Given the description of an element on the screen output the (x, y) to click on. 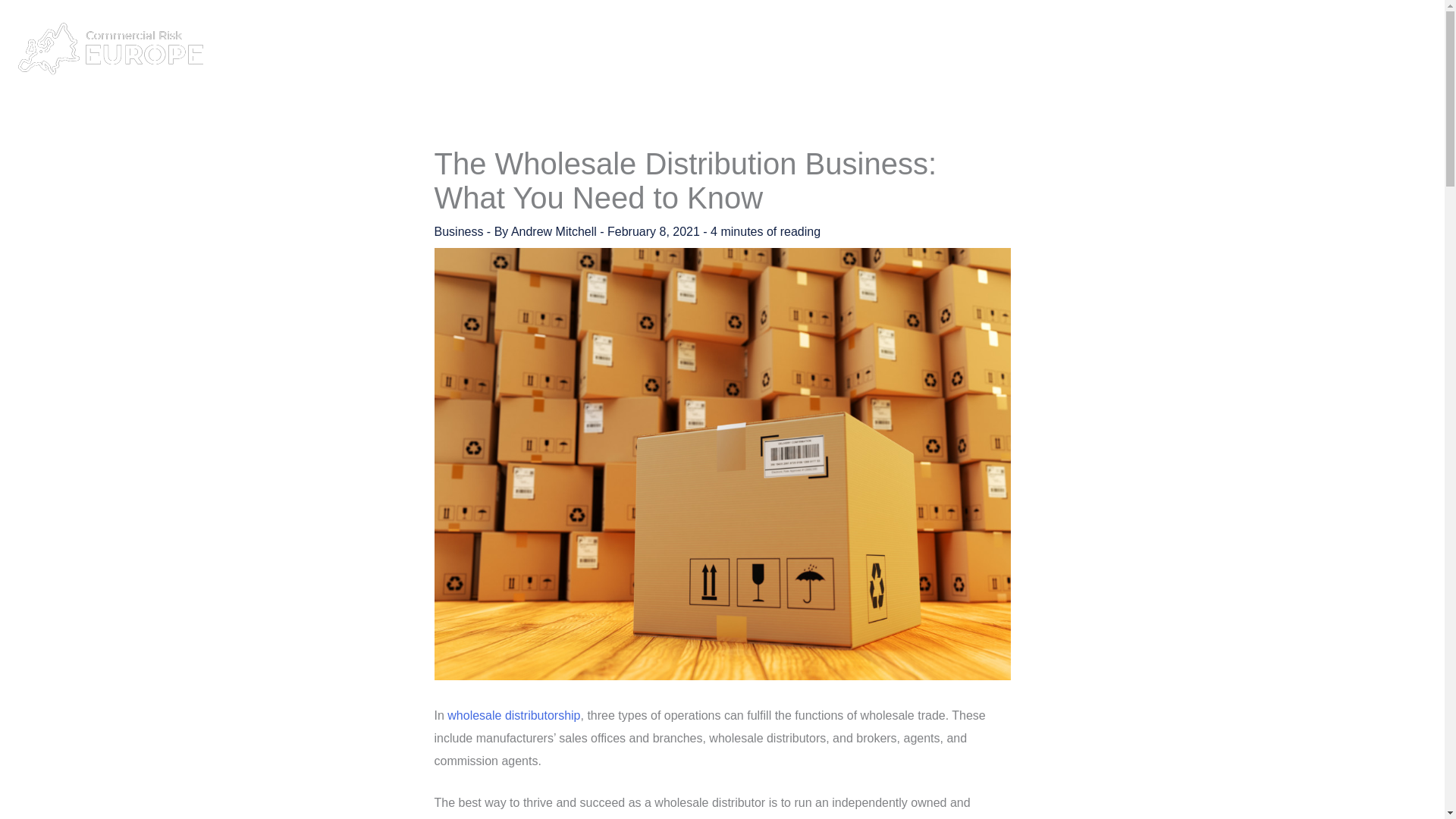
Business (1014, 49)
Technology (1356, 49)
Andrew Mitchell (555, 231)
Business Legalities (1115, 49)
International Growth (1246, 49)
wholesale distributorship (512, 715)
View all posts by Andrew Mitchell (555, 231)
Business (458, 231)
